Given the description of an element on the screen output the (x, y) to click on. 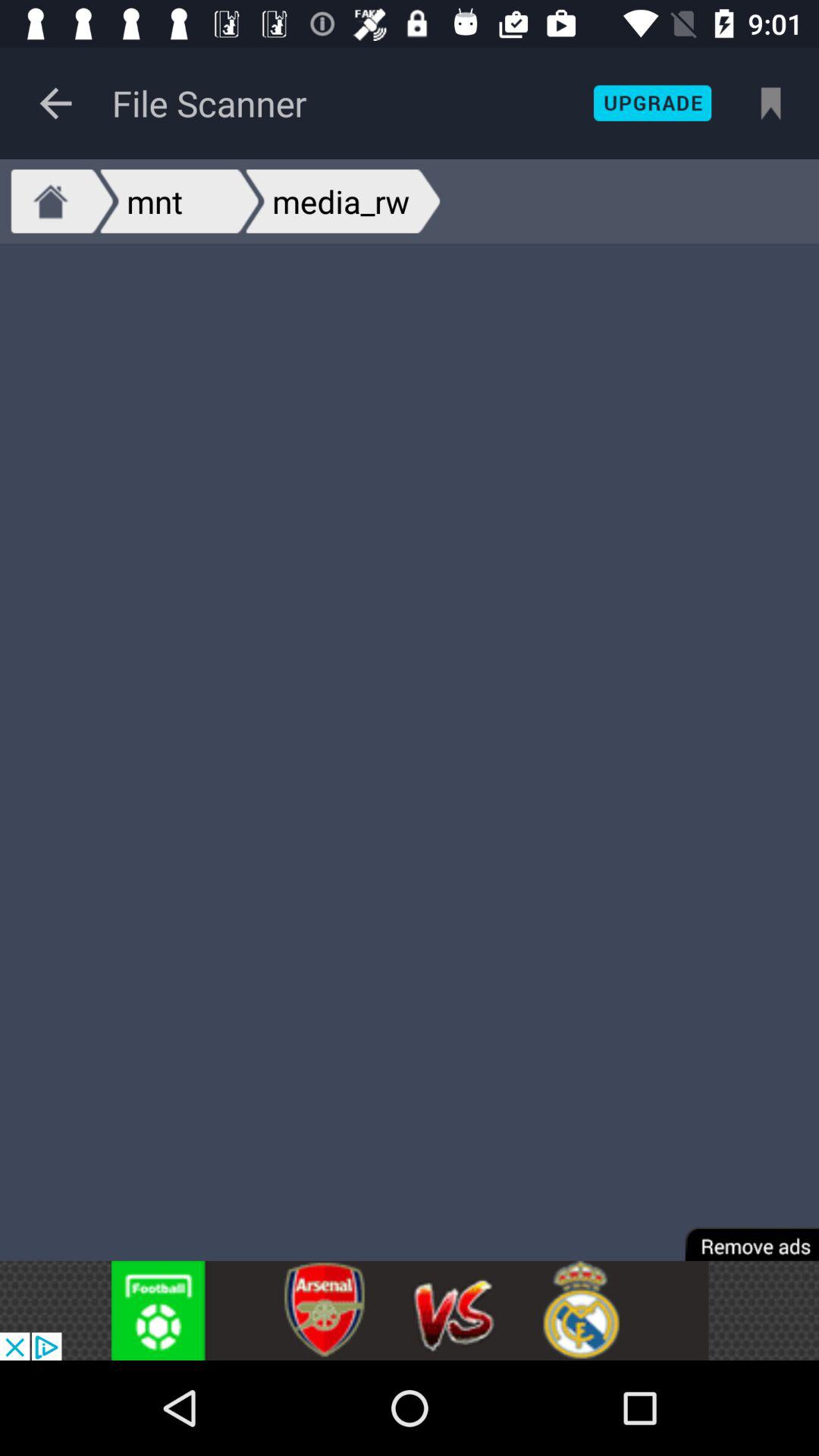
click to remove advertisements (742, 1233)
